Given the description of an element on the screen output the (x, y) to click on. 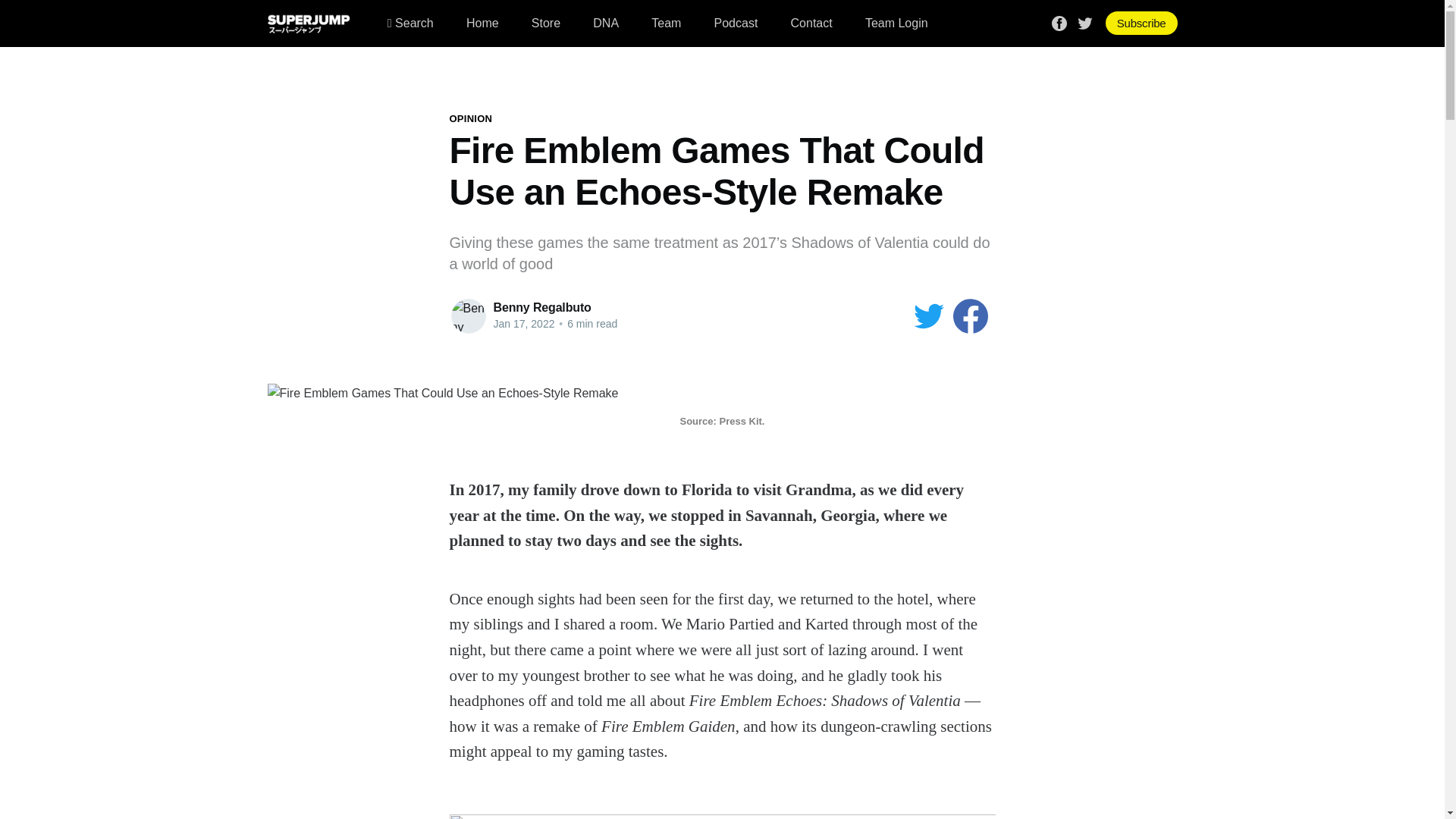
OPINION (470, 119)
Store (545, 22)
Subscribe (1141, 23)
Contact (811, 22)
Twitter (1085, 21)
Home (482, 22)
DNA (605, 22)
Facebook (1059, 21)
Benny Regalbuto (542, 307)
Team Login (896, 22)
